Given the description of an element on the screen output the (x, y) to click on. 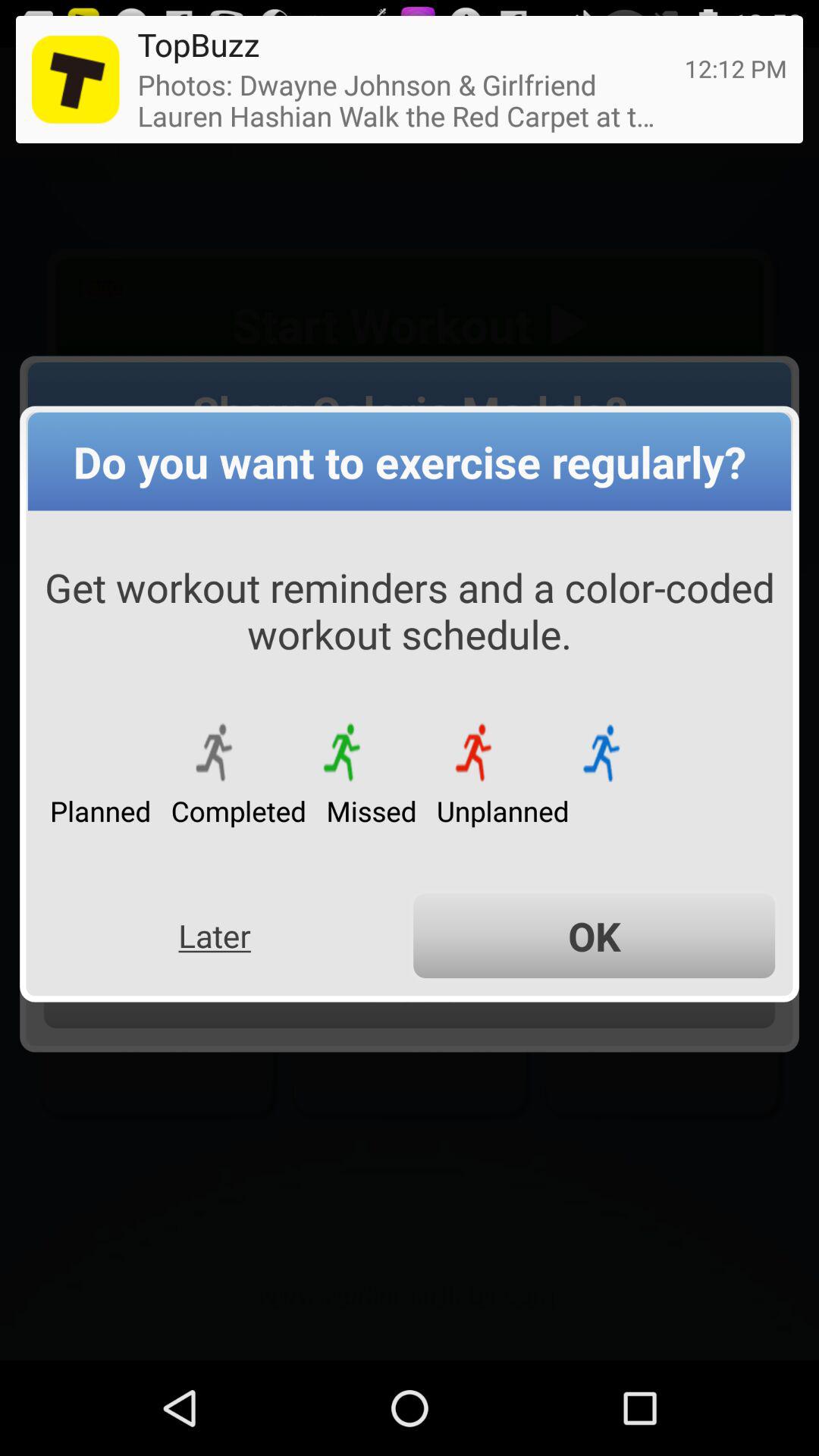
choose item on the right (594, 935)
